Given the description of an element on the screen output the (x, y) to click on. 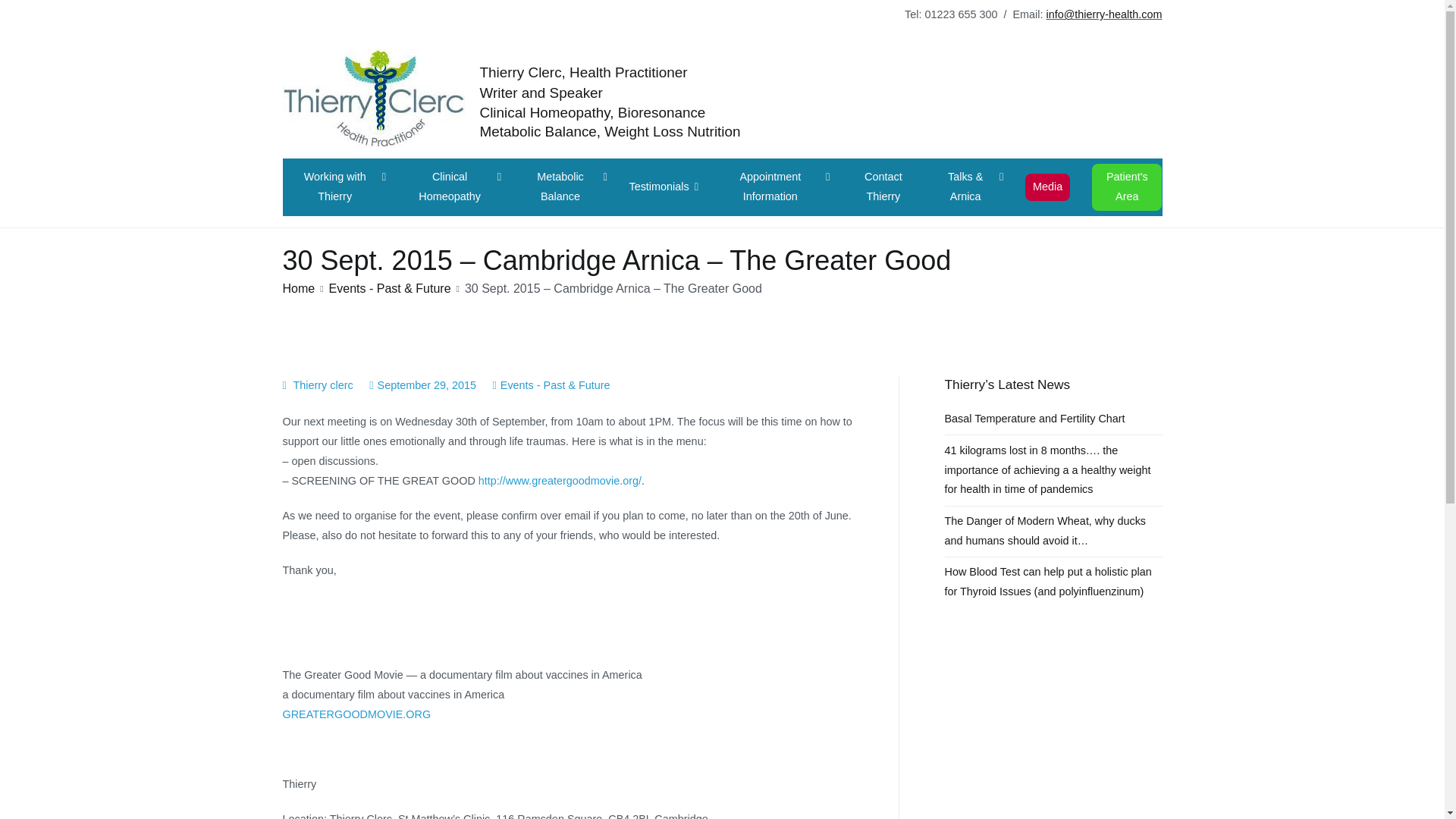
Clinical Homeopathy (453, 187)
Patient's Area (1126, 186)
Appointment Information (774, 187)
Media (1047, 186)
Metabolic Balance (564, 187)
Thierry Clerc, Health Practitioner (583, 72)
Testimonials (663, 187)
Contact Thierry (883, 187)
Working with Thierry (339, 187)
